Given the description of an element on the screen output the (x, y) to click on. 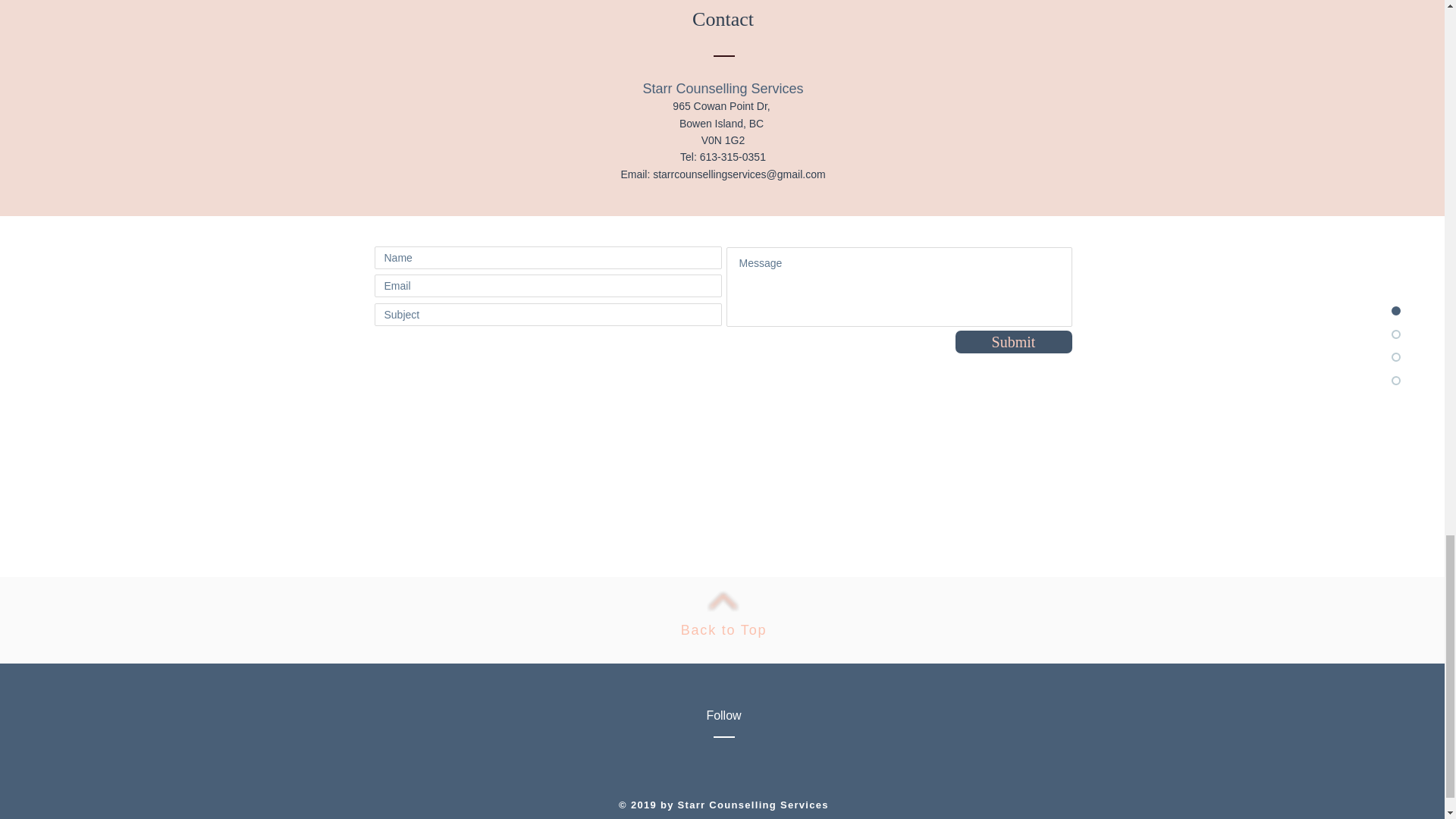
Back to Top (724, 630)
Submit (1013, 341)
Google Maps (721, 484)
